Given the description of an element on the screen output the (x, y) to click on. 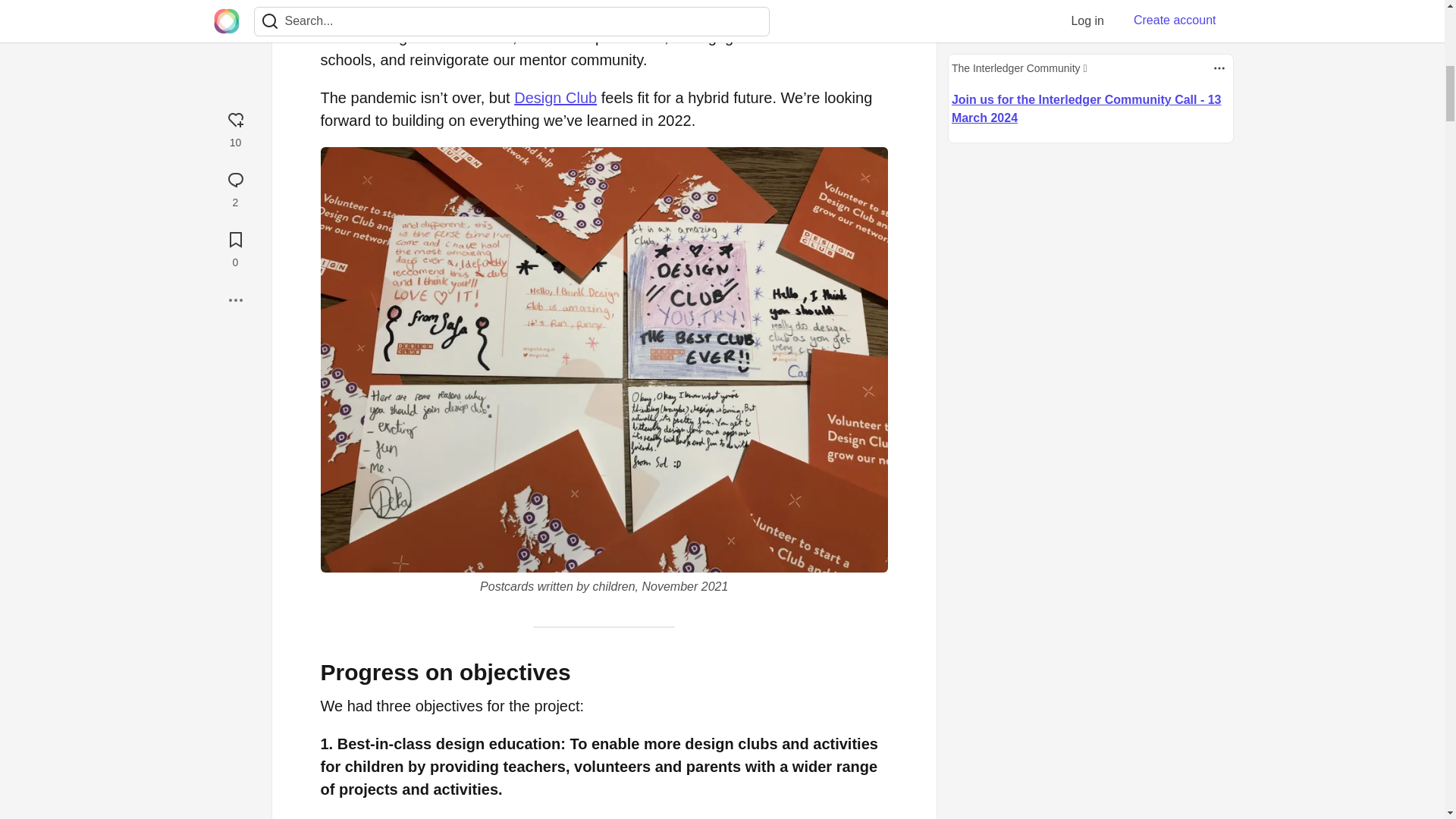
Design Club (554, 97)
